Given the description of an element on the screen output the (x, y) to click on. 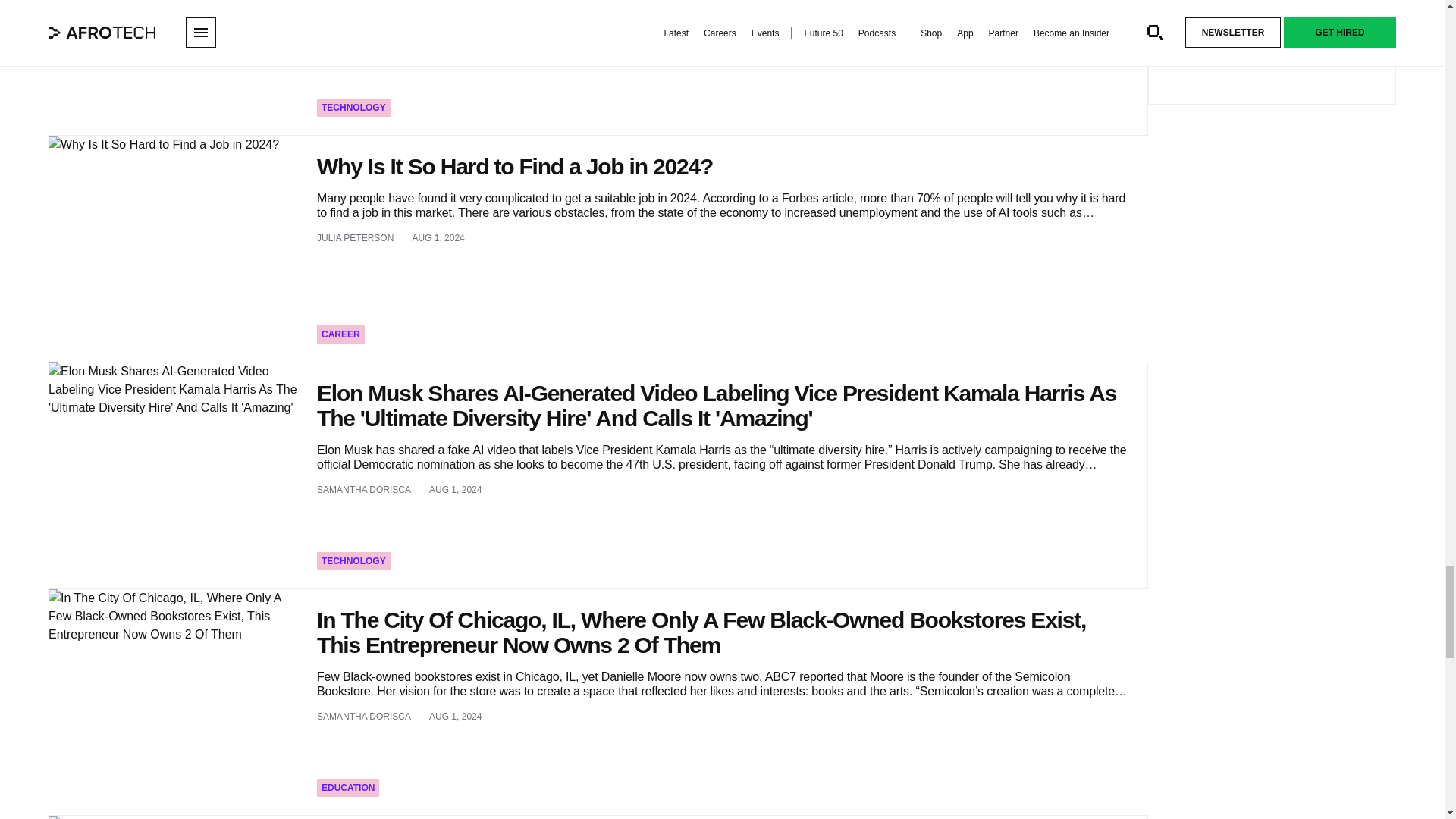
Why Is It So Hard to Find a Job in 2024? (173, 248)
